Given the description of an element on the screen output the (x, y) to click on. 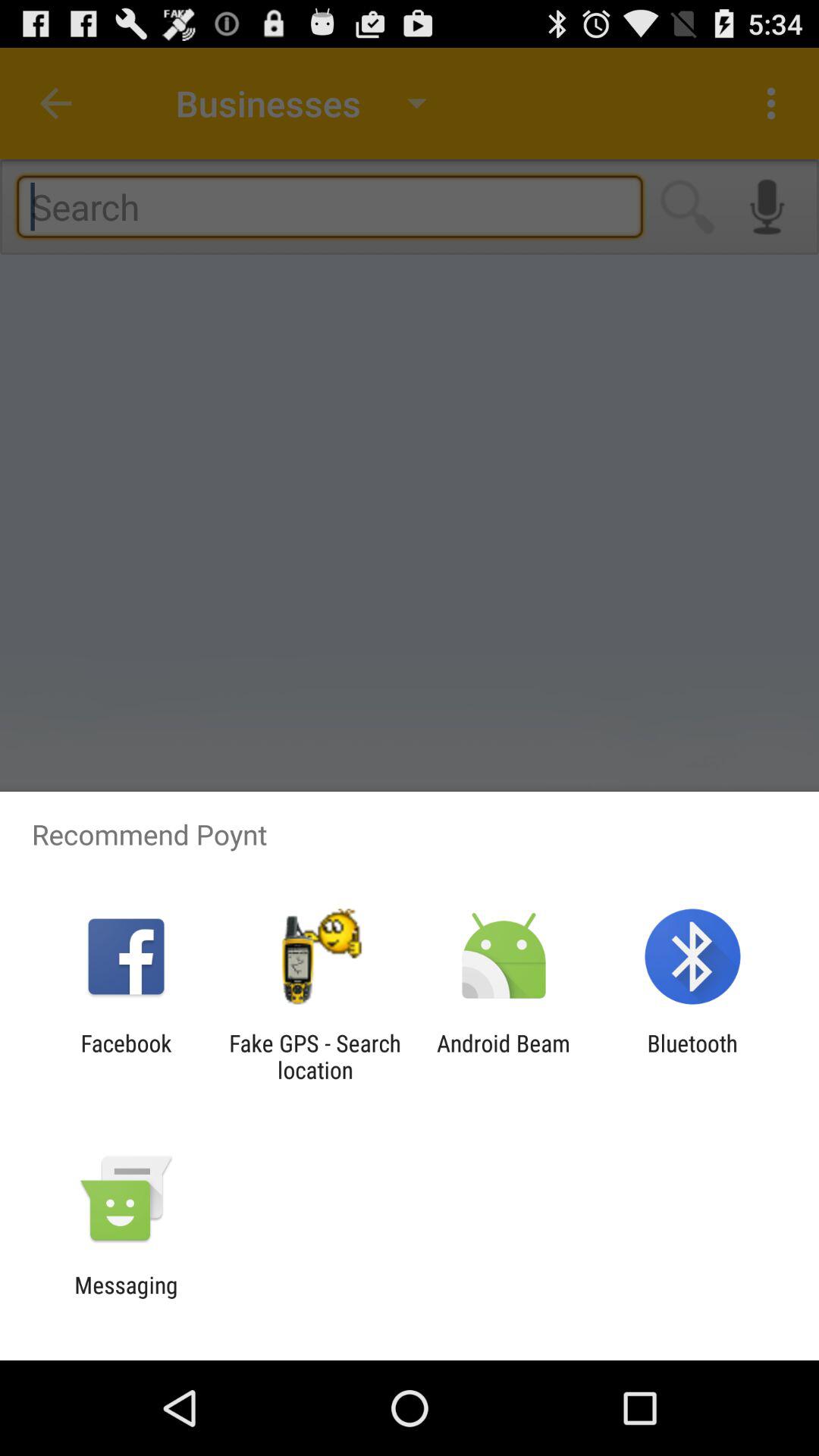
launch item next to the android beam item (692, 1056)
